Given the description of an element on the screen output the (x, y) to click on. 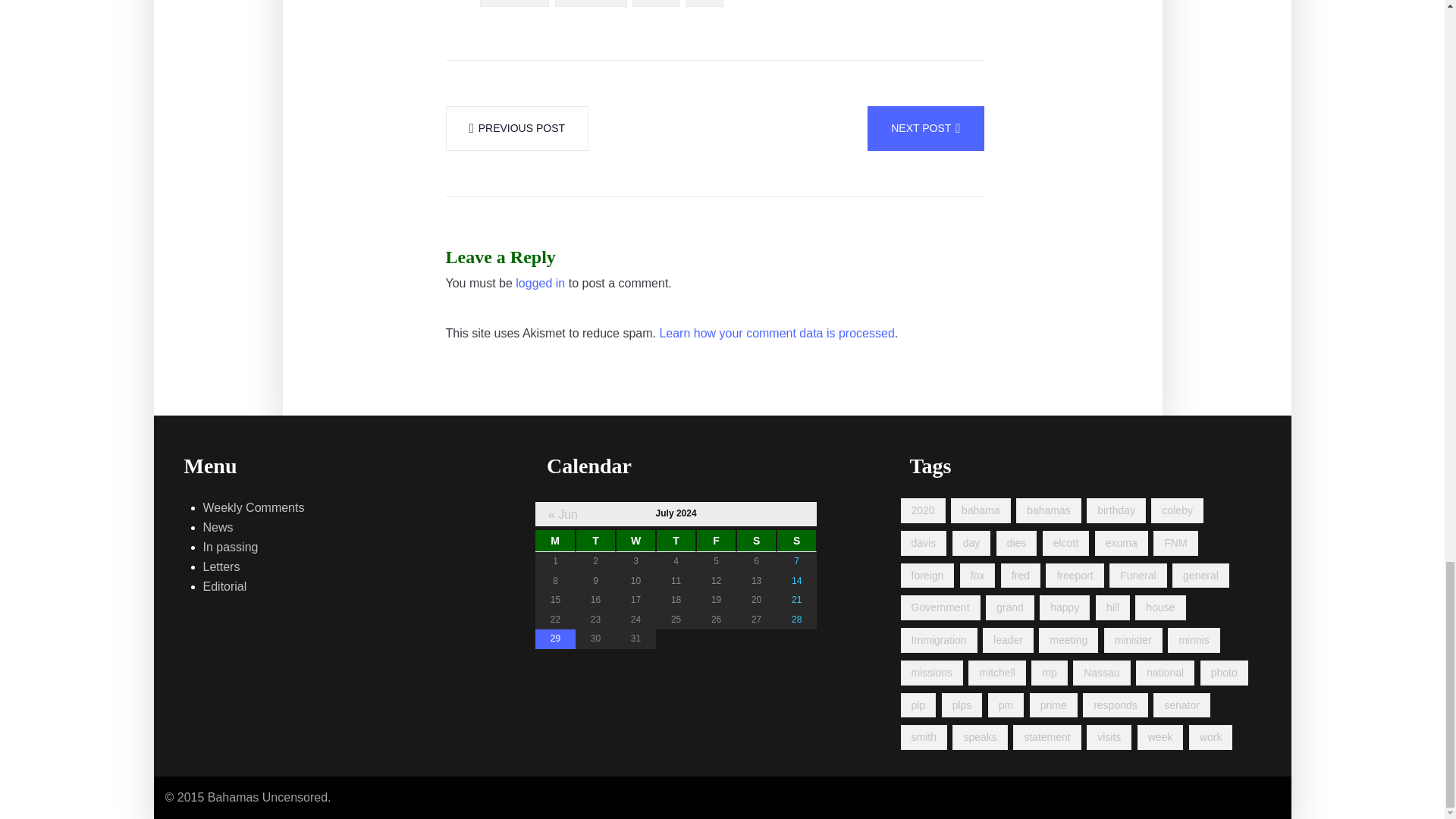
Editorial (225, 587)
Monday (555, 540)
PREVIOUS POST (517, 128)
absolutely (514, 3)
Saturday (756, 540)
logged in (539, 283)
eric (704, 3)
NEXT POST (925, 128)
Tuesday (595, 540)
Wednesday (635, 540)
apologises (590, 3)
Weekly Comments (253, 507)
Thursday (675, 540)
Learn how your comment data is processed (776, 333)
In passing (231, 547)
